Given the description of an element on the screen output the (x, y) to click on. 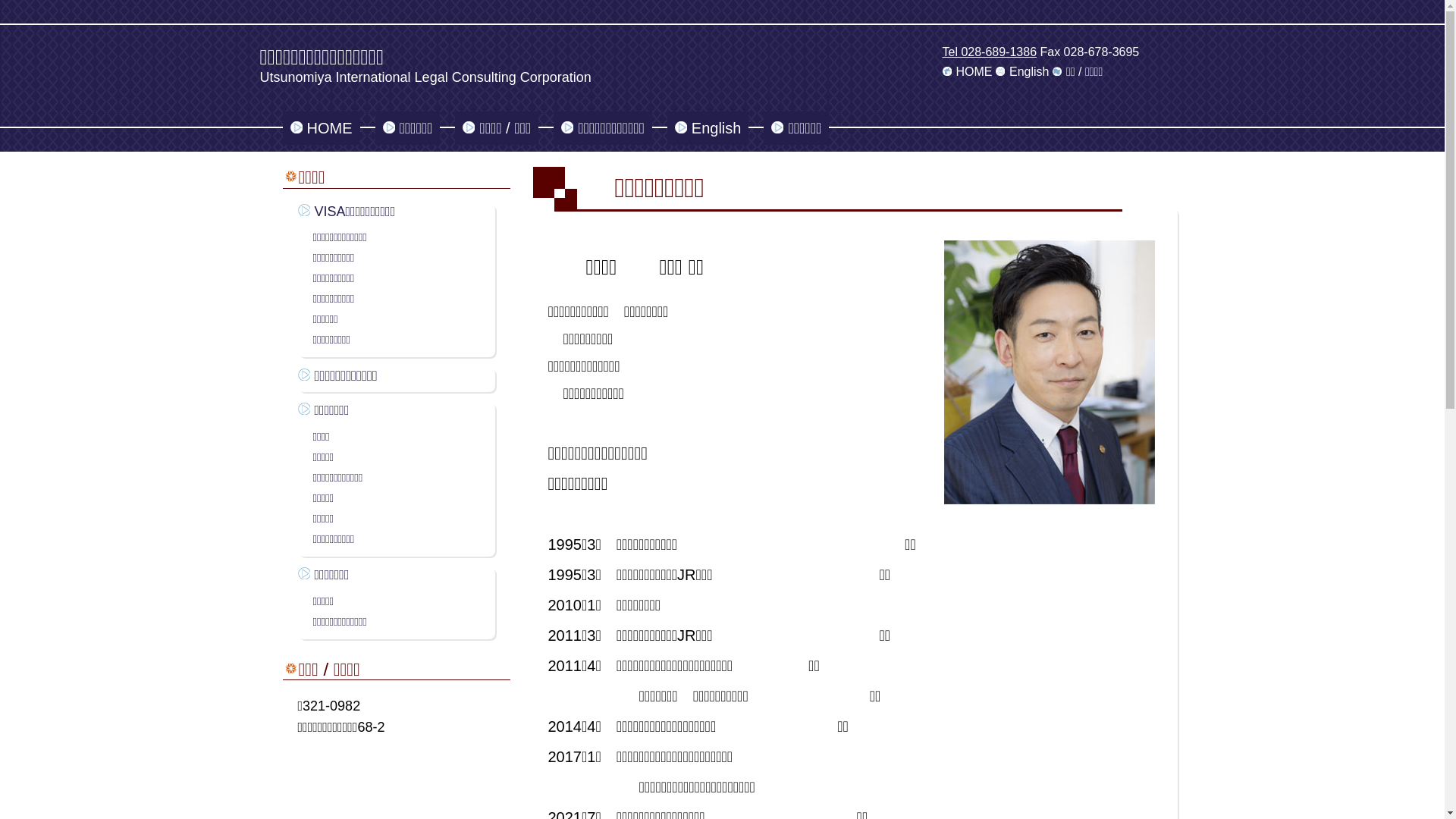
HOME Element type: text (966, 71)
English Element type: text (1021, 71)
Tel 028-689-1386 Element type: text (988, 51)
